Given the description of an element on the screen output the (x, y) to click on. 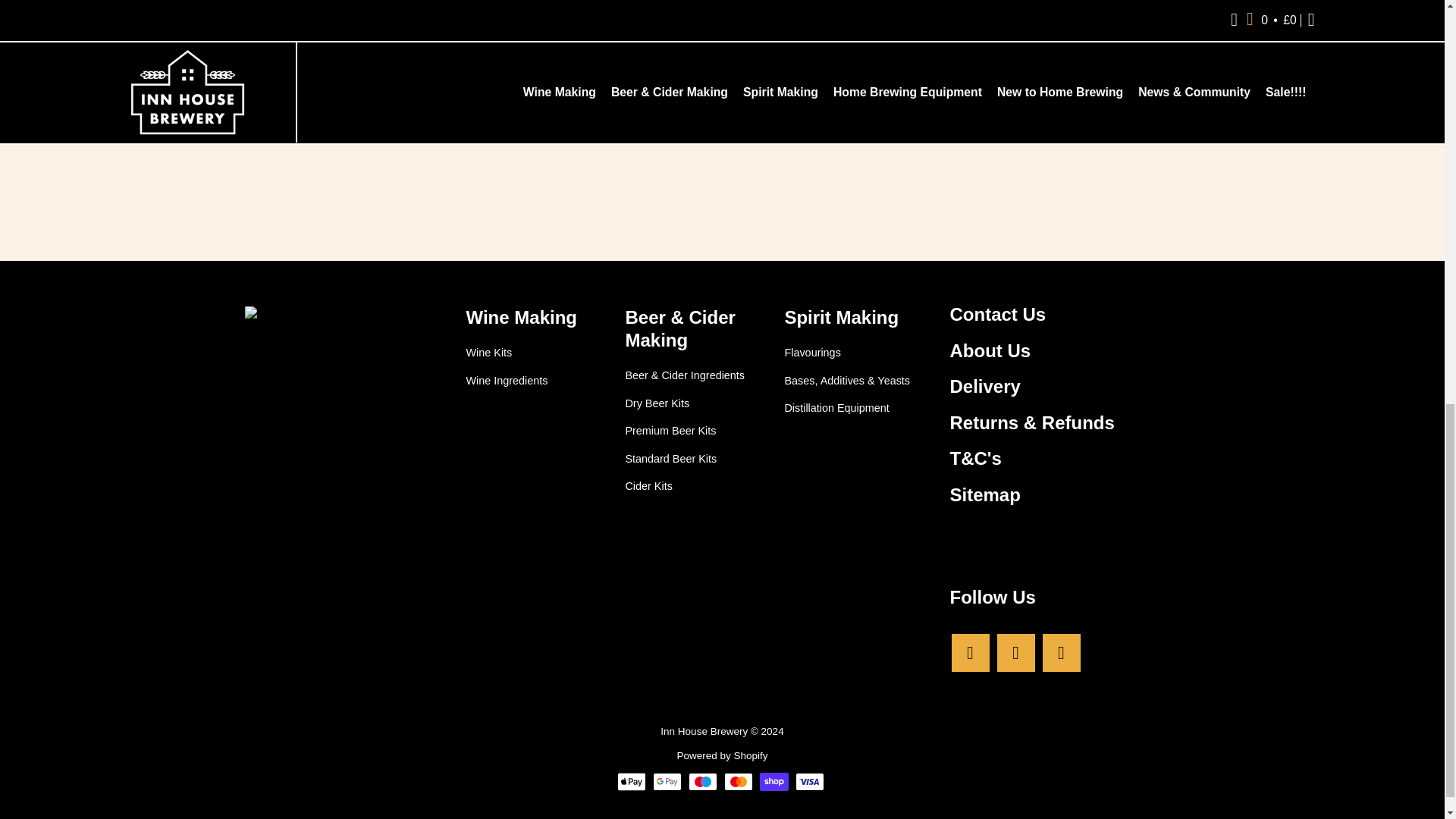
Shop Pay (774, 782)
Maestro (702, 782)
Mastercard (737, 782)
Google Pay (666, 782)
Visa (809, 782)
Apple Pay (631, 782)
